Given the description of an element on the screen output the (x, y) to click on. 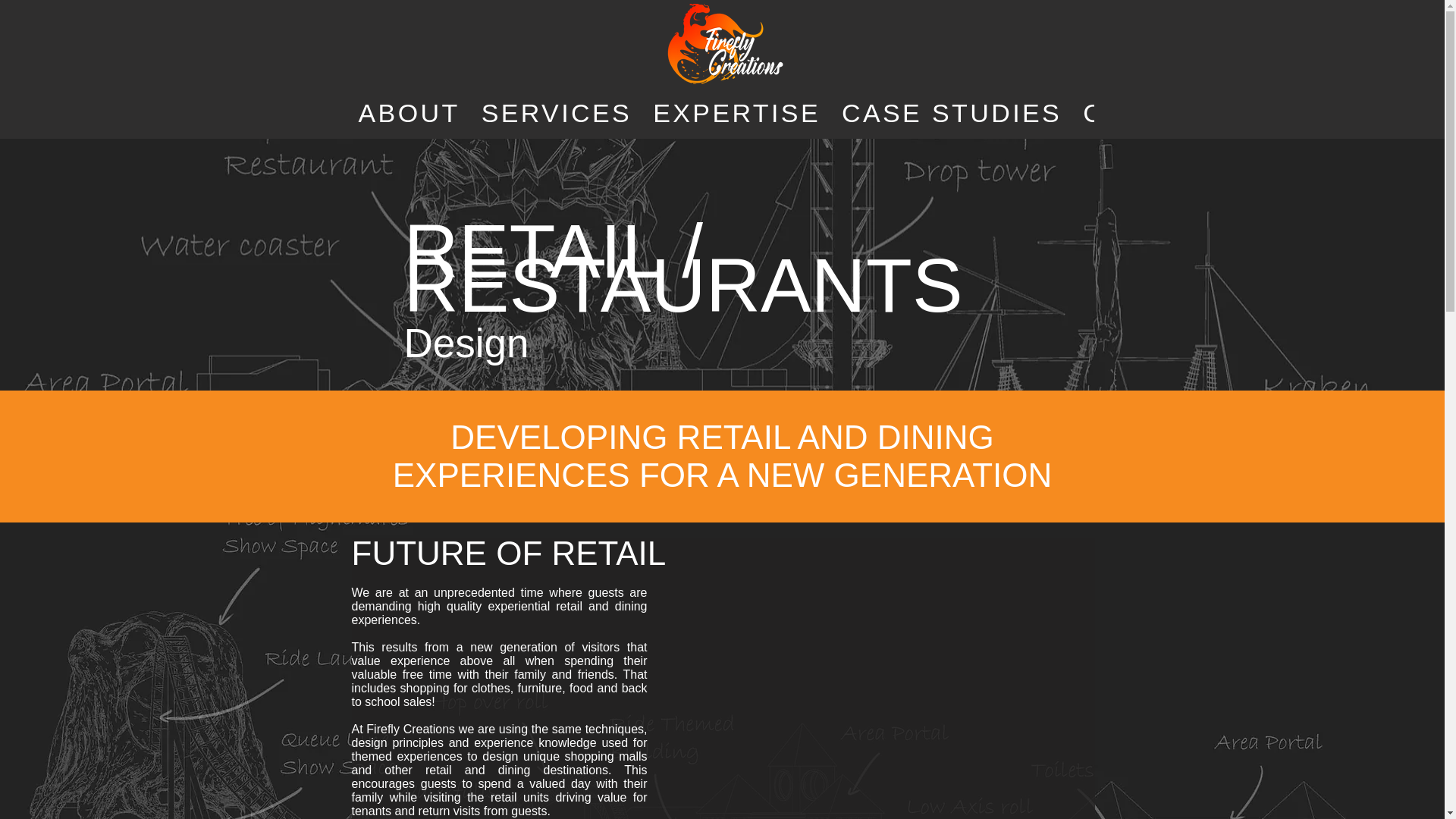
SERVICES (557, 112)
CONTACT (1153, 112)
EXPERTISE (736, 112)
CASE STUDIES (951, 112)
ABOUT (408, 112)
